Given the description of an element on the screen output the (x, y) to click on. 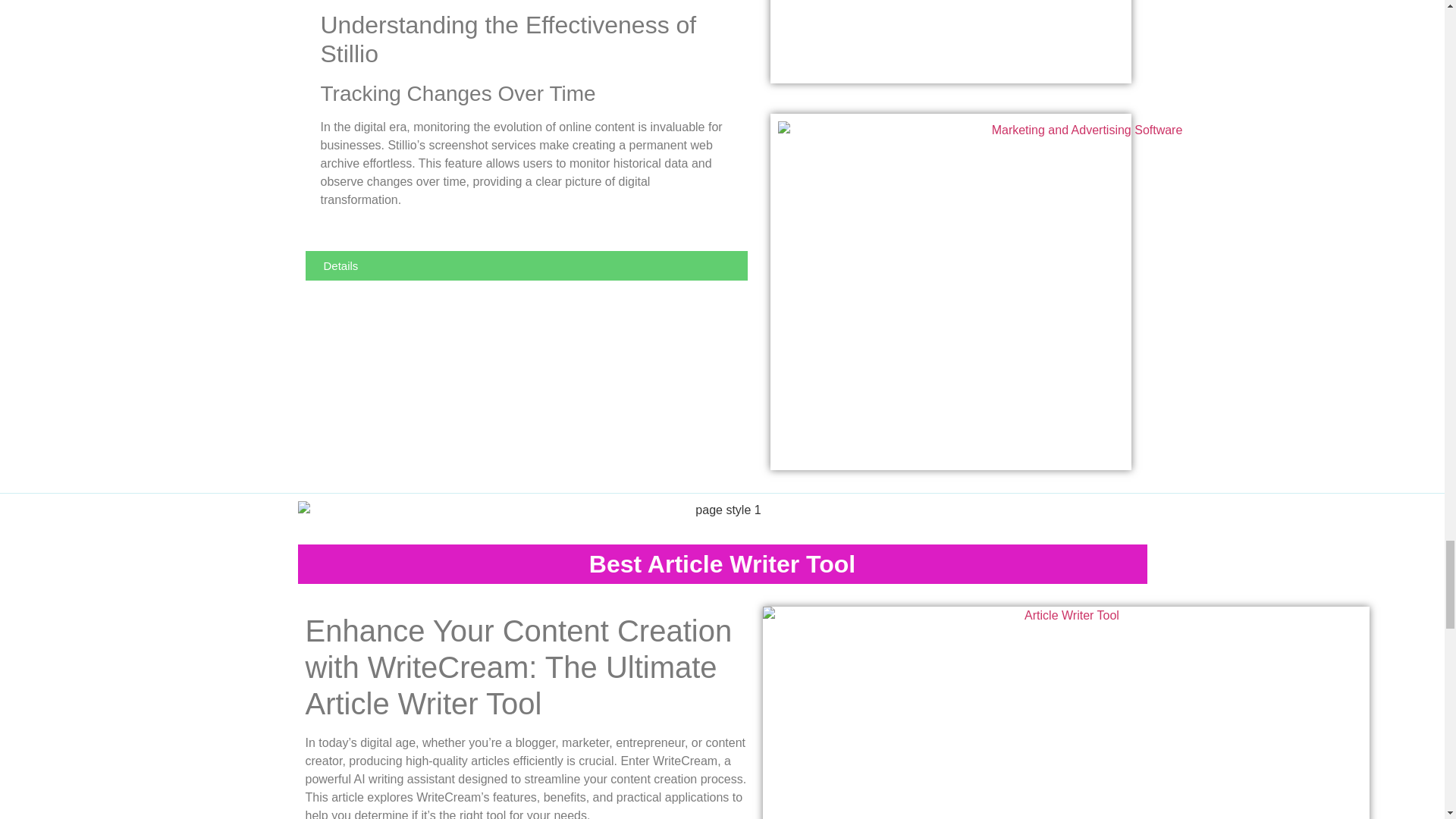
Neck Pillow for Neck Pain 7 (722, 515)
Neck Pillow for Neck Pain 8 (1080, 38)
Neck Pillow for Neck Pain 11 (1066, 712)
